Given the description of an element on the screen output the (x, y) to click on. 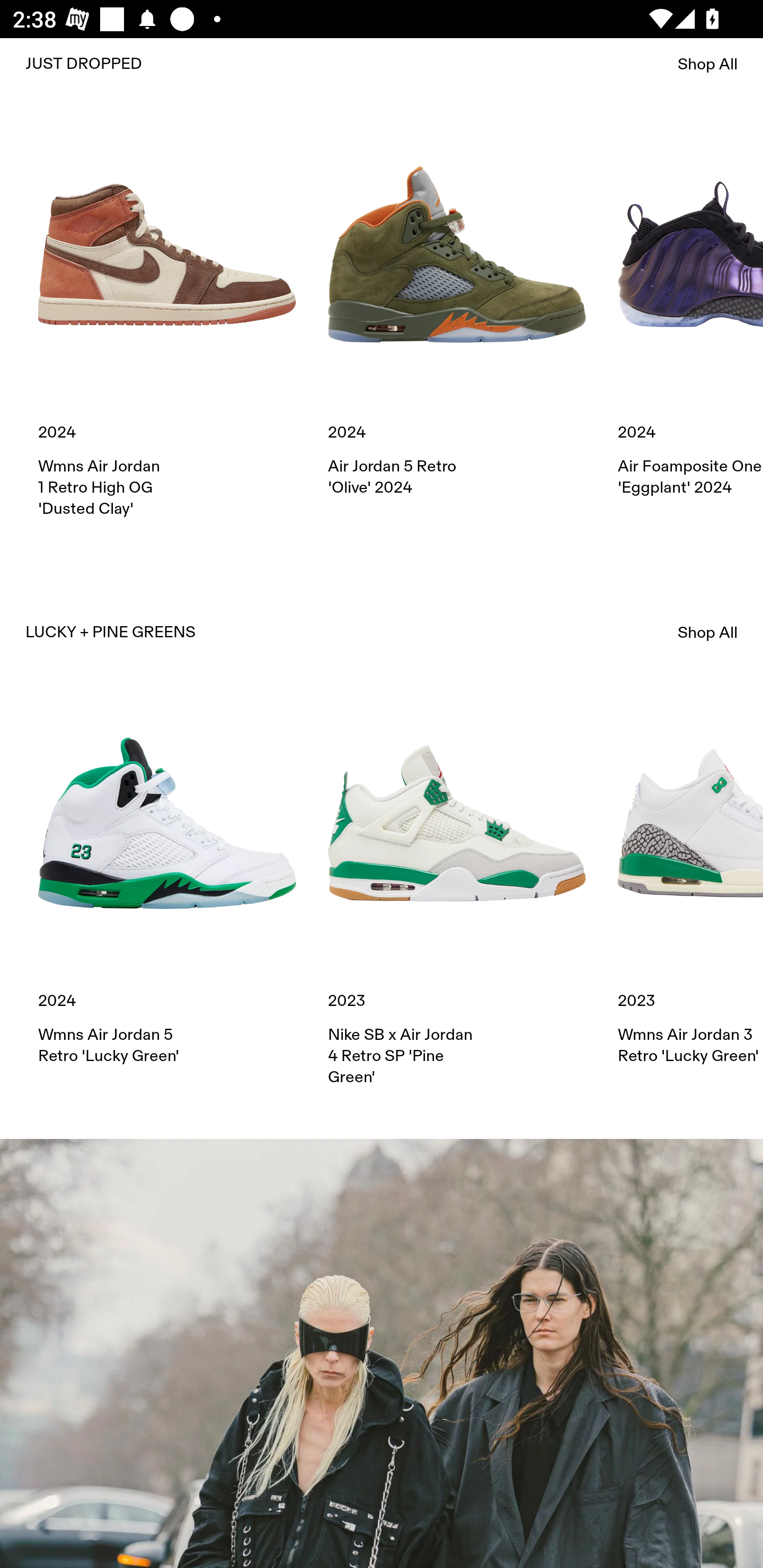
Shop All (707, 64)
2024 Wmns Air Jordan 1 Retro High OG 'Dusted Clay' (167, 322)
2024 Air Jordan 5 Retro 'Olive' 2024 (456, 311)
2024 Air Foamposite One 'Eggplant' 2024 (690, 311)
Shop All (707, 632)
2024 Wmns Air Jordan 5 Retro 'Lucky Green' (167, 880)
2023 Nike SB x Air Jordan 4 Retro SP 'Pine Green' (456, 891)
2023 Wmns Air Jordan 3 Retro 'Lucky Green' (690, 880)
